Given the description of an element on the screen output the (x, y) to click on. 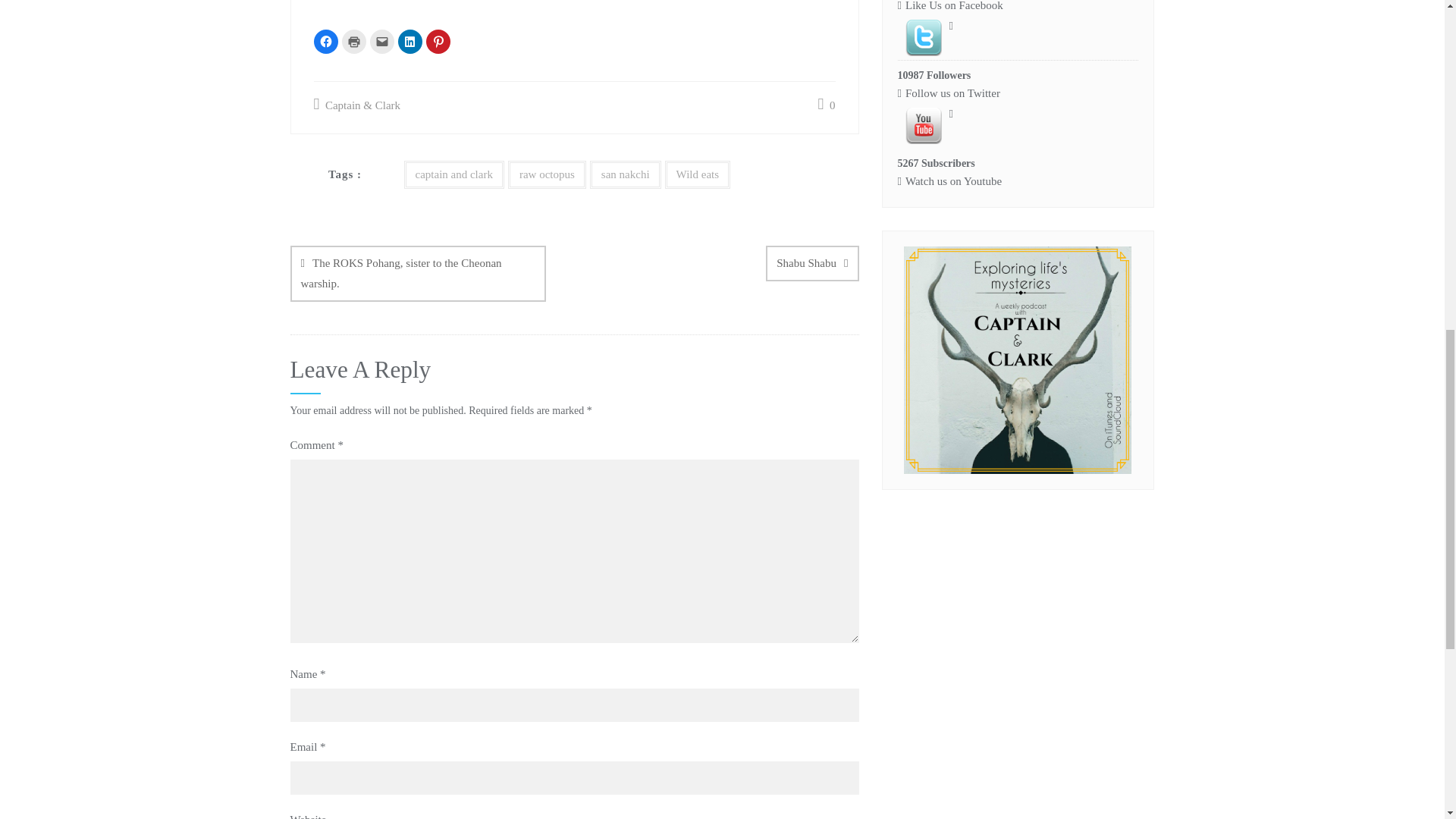
captain and clark (453, 174)
Click to share on Pinterest (437, 41)
raw octopus (547, 174)
Click to print (352, 41)
Shabu Shabu (812, 263)
Wild eats (697, 174)
Click to share on Facebook (325, 41)
san nakchi (625, 174)
Click to email a link to a friend (381, 41)
Click to share on LinkedIn (409, 41)
